Given the description of an element on the screen output the (x, y) to click on. 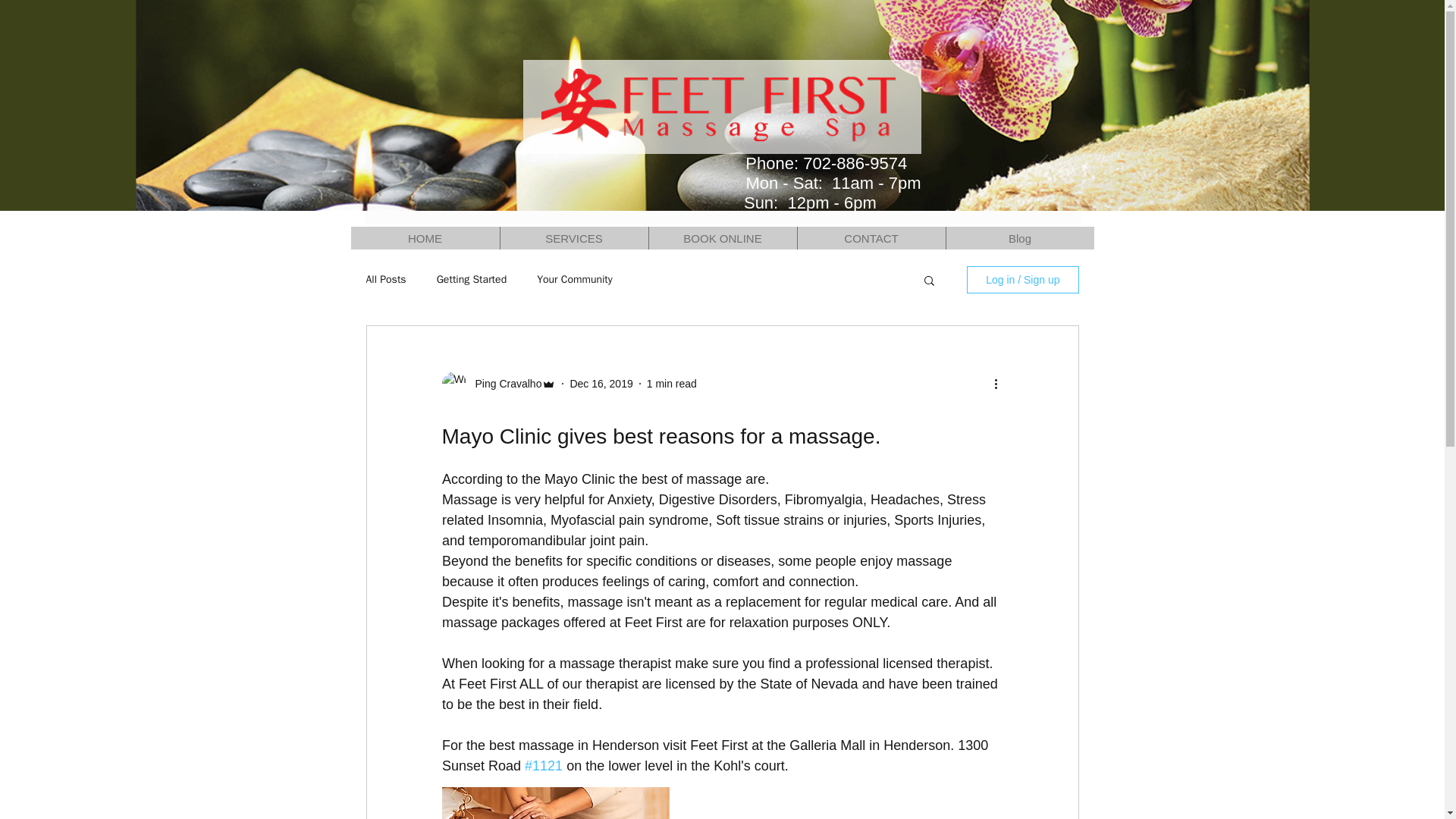
Blog (1018, 238)
Dec 16, 2019 (600, 383)
All Posts (385, 279)
BOOK ONLINE (721, 238)
Ping Cravalho  (503, 383)
Getting Started (471, 279)
SERVICES (573, 238)
HOME (424, 238)
1 min read (671, 383)
CONTACT (870, 238)
Your Community (574, 279)
